Given the description of an element on the screen output the (x, y) to click on. 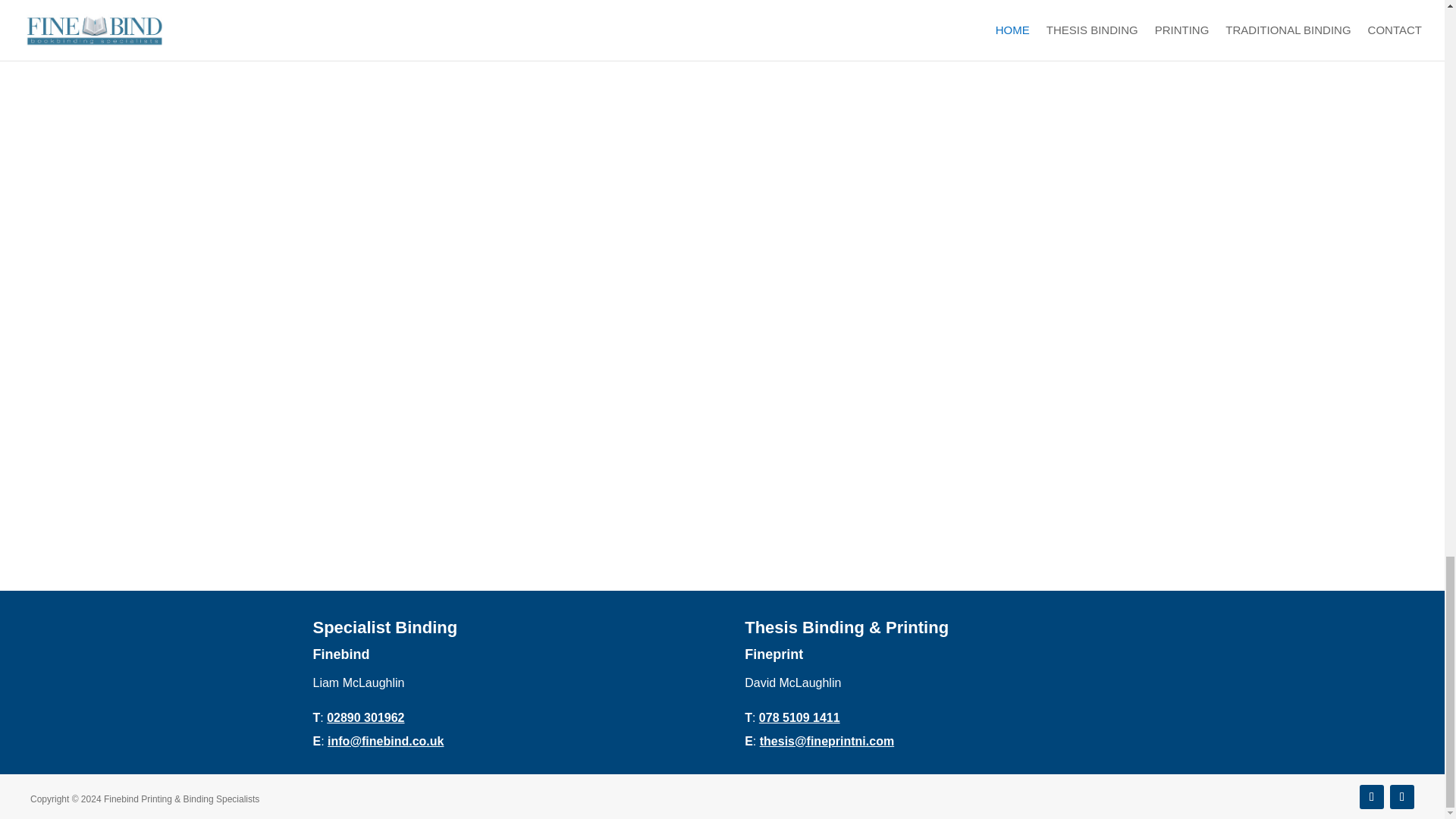
Follow on Facebook (1371, 796)
Follow on Instagram (1401, 796)
02890 301962 (365, 717)
078 5109 1411 (799, 717)
